Given the description of an element on the screen output the (x, y) to click on. 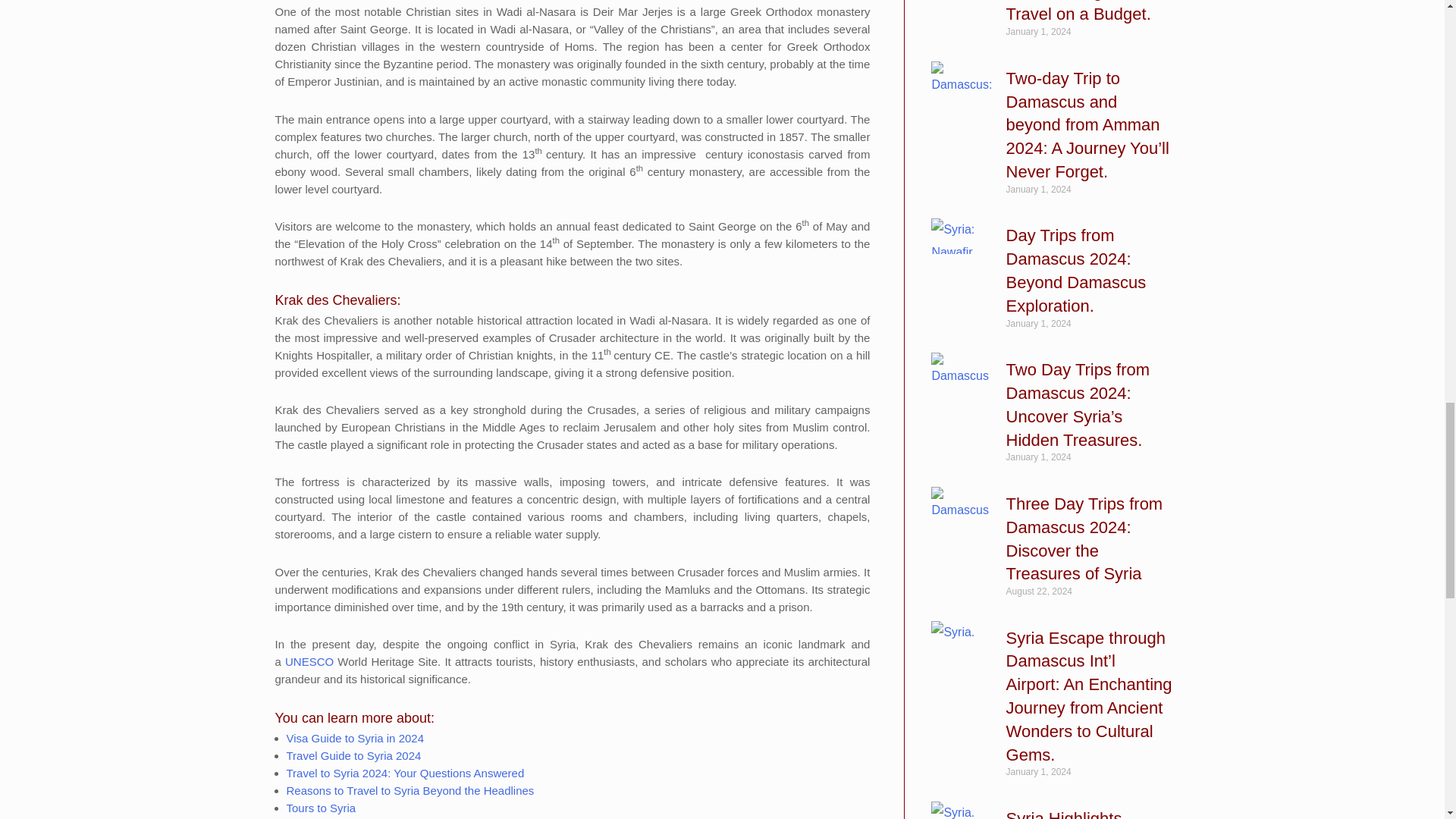
Travel Guide to Syria 2024 (354, 755)
Visa Guide to Syria in 2024 (355, 738)
Reasons to Travel to Syria Beyond the Headlines (410, 789)
Tours to Syria (321, 807)
Travel to Syria 2024: Your Questions Answered (405, 772)
UNESCO (309, 661)
